Given the description of an element on the screen output the (x, y) to click on. 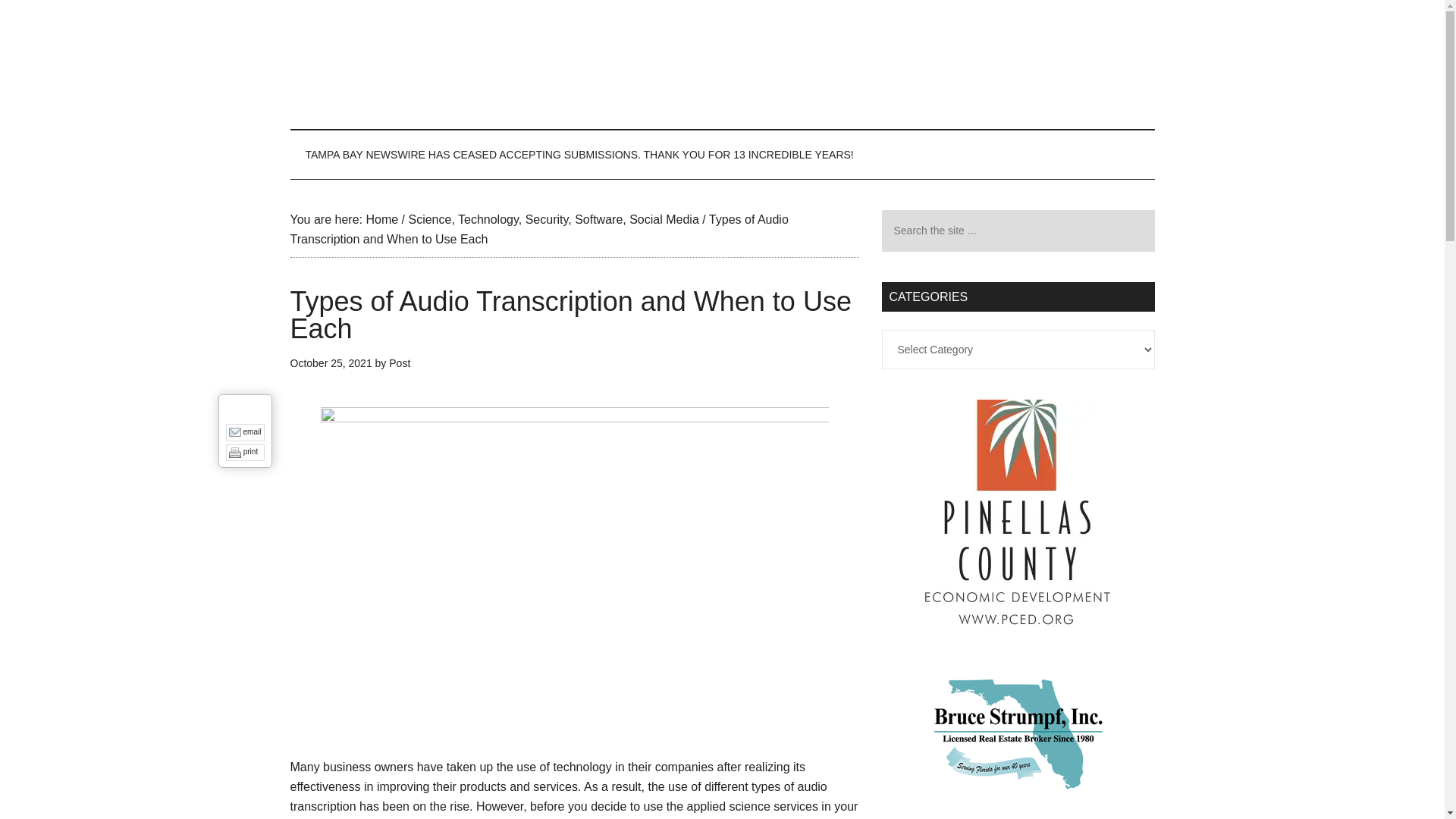
Tampa Bay News Wire (721, 64)
Science, Technology, Security, Software, Social Media (552, 219)
print (250, 451)
Home (381, 219)
Post (399, 363)
